Given the description of an element on the screen output the (x, y) to click on. 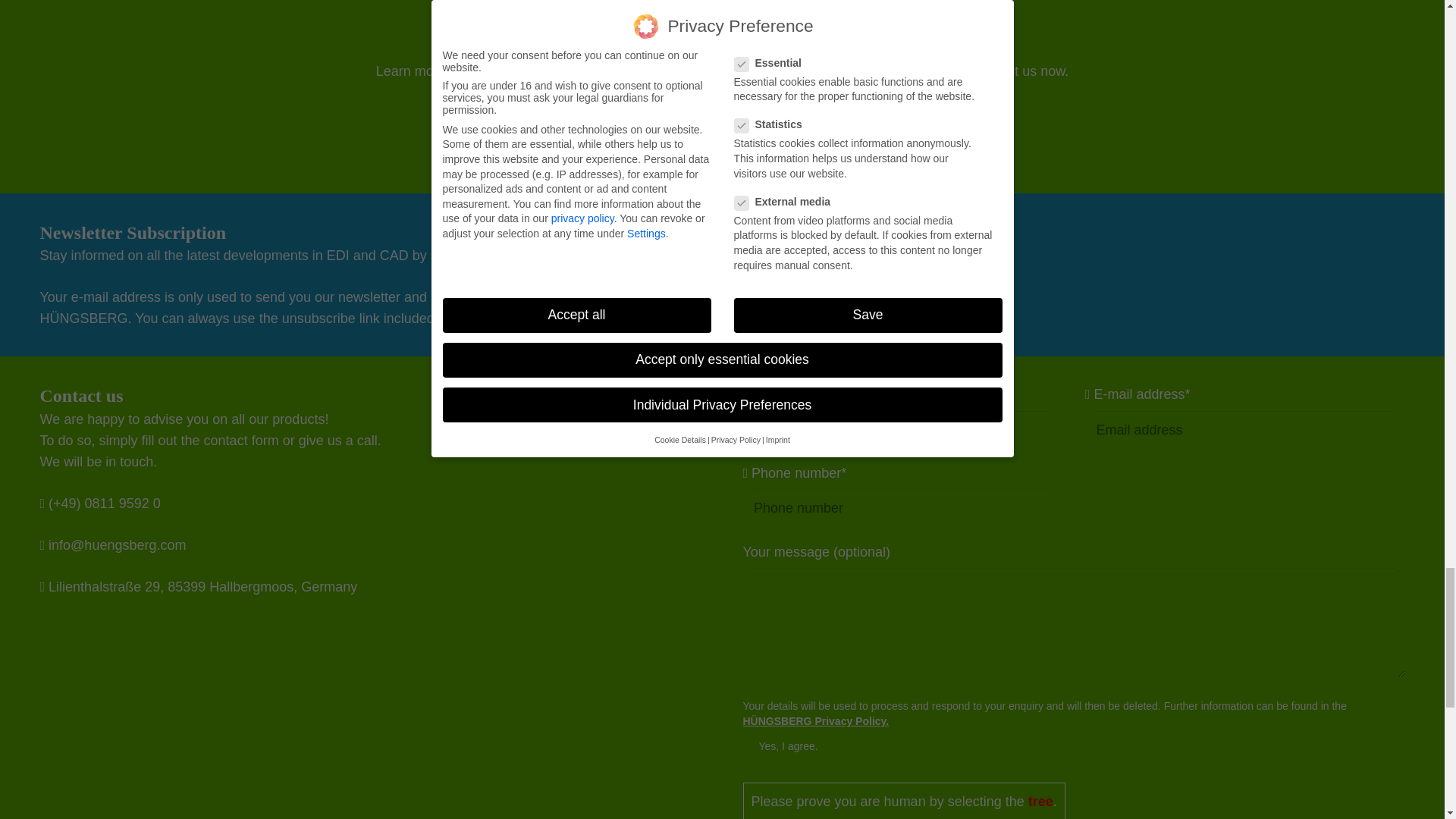
Contact (722, 144)
Koller Formenbau GmbH (722, 29)
1 (748, 746)
